Given the description of an element on the screen output the (x, y) to click on. 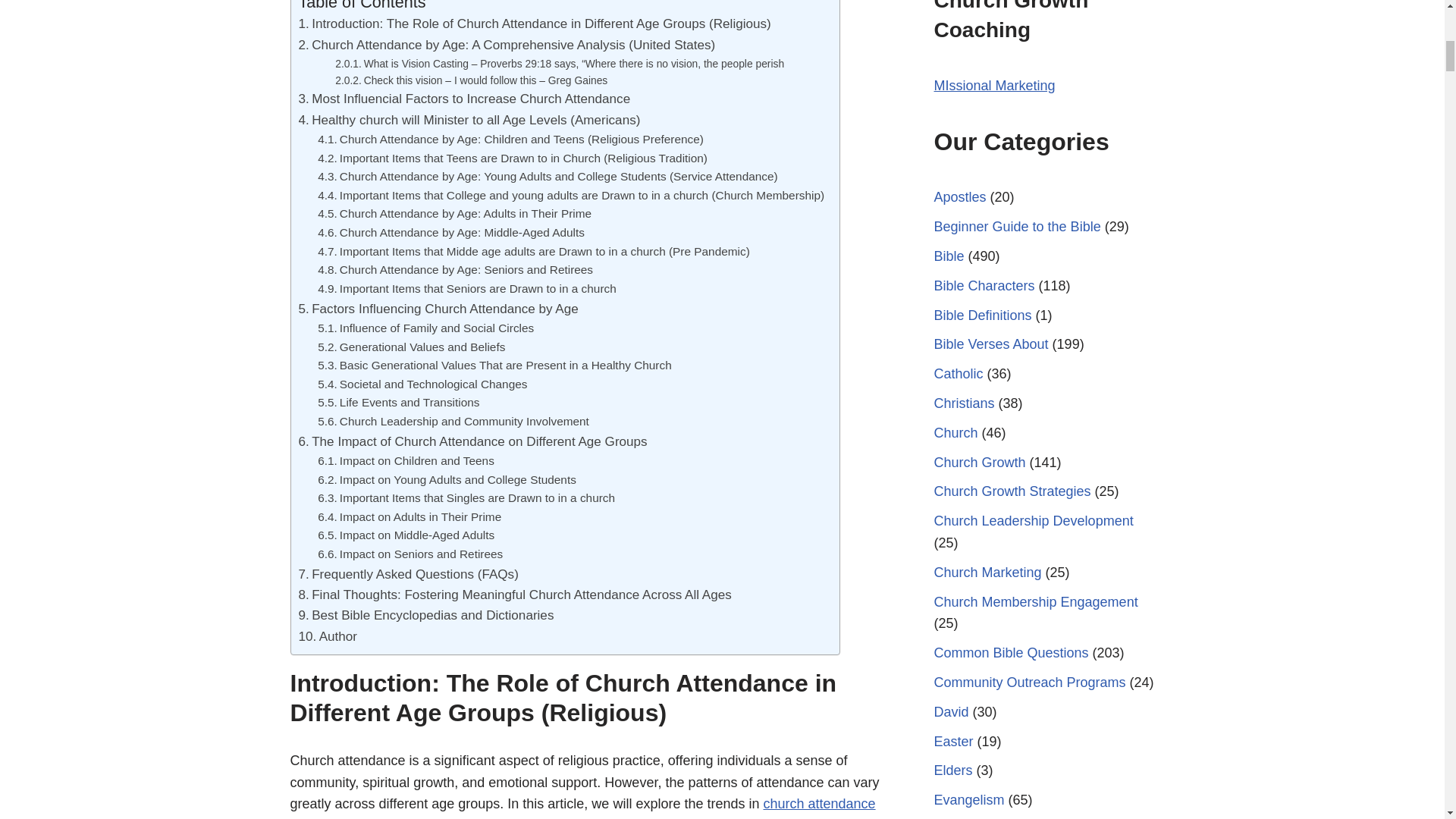
Important Items that Seniors are Drawn to in a church (466, 289)
Church Attendance by Age: Middle-Aged Adults (451, 232)
Church Attendance by Age: Seniors and Retirees (454, 270)
Church Attendance by Age: Adults in Their Prime (454, 213)
Most Influencial Factors to Increase Church Attendance (464, 98)
